Given the description of an element on the screen output the (x, y) to click on. 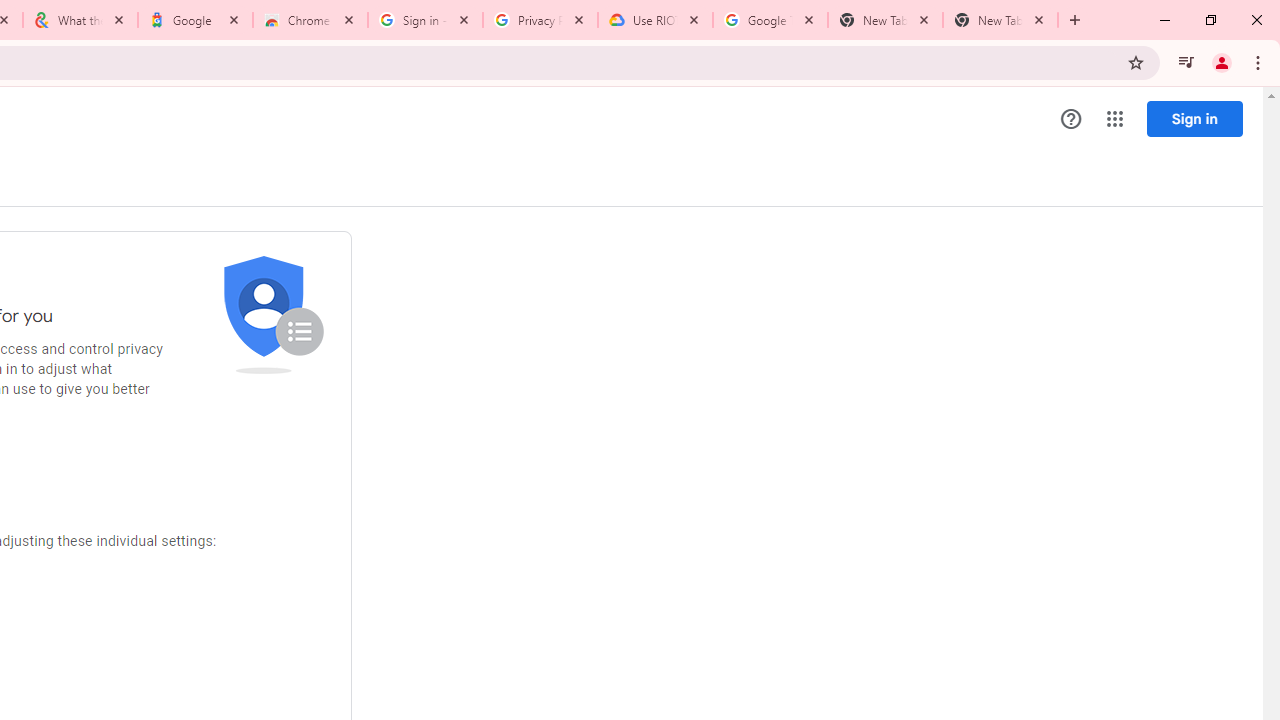
Help (1071, 119)
Chrome Web Store - Color themes by Chrome (310, 20)
Google (195, 20)
